Given the description of an element on the screen output the (x, y) to click on. 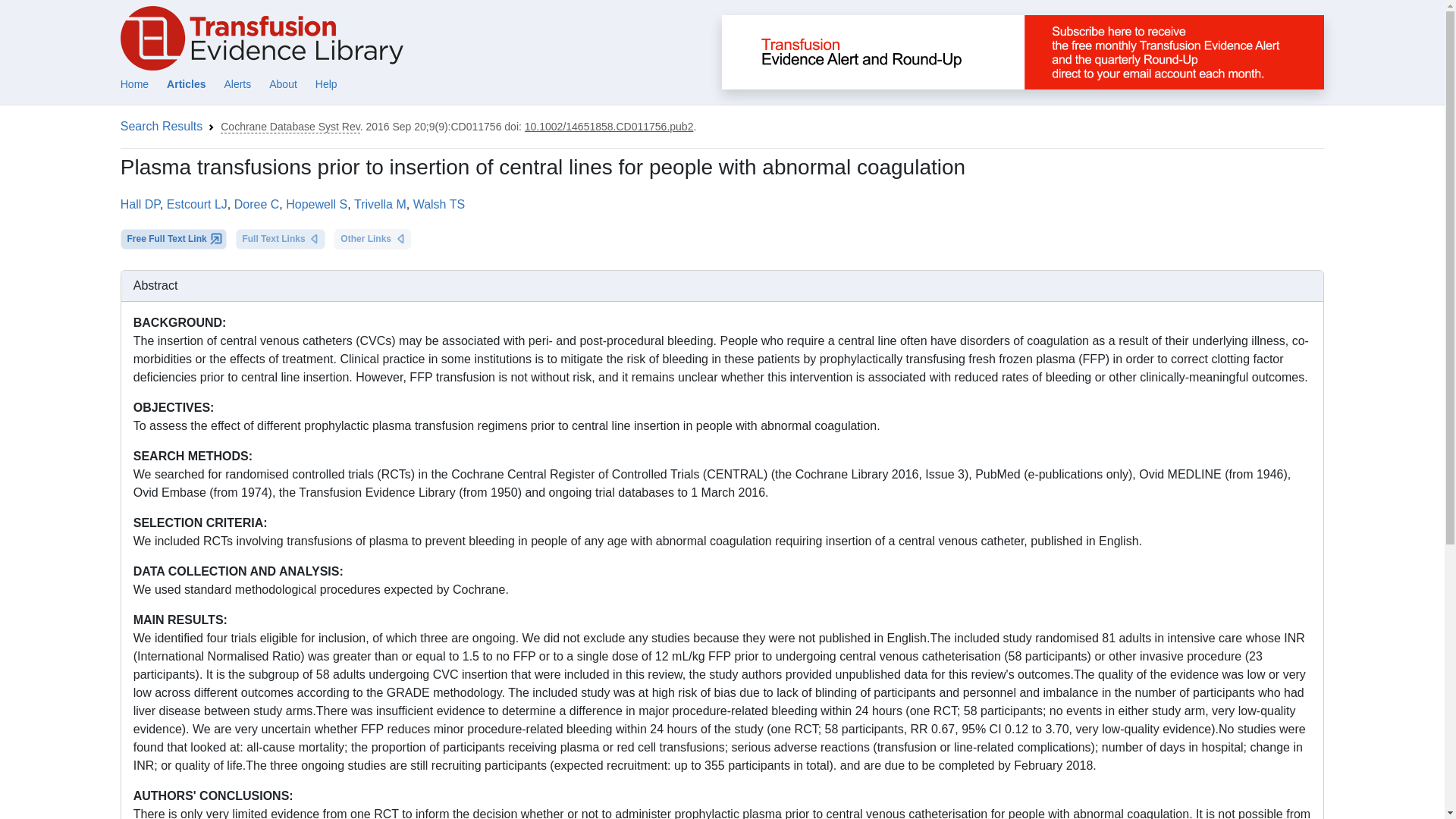
Hall DP (140, 204)
Home (134, 84)
Full Text Links (279, 239)
Doree C (256, 204)
Walsh TS (438, 204)
Estcourt LJ (197, 204)
Articles (186, 84)
Trivella M (379, 204)
Alerts (237, 84)
Search Results (161, 125)
About (283, 84)
Hopewell S (316, 204)
Free Full Text Link (173, 239)
Other Links (372, 239)
